Given the description of an element on the screen output the (x, y) to click on. 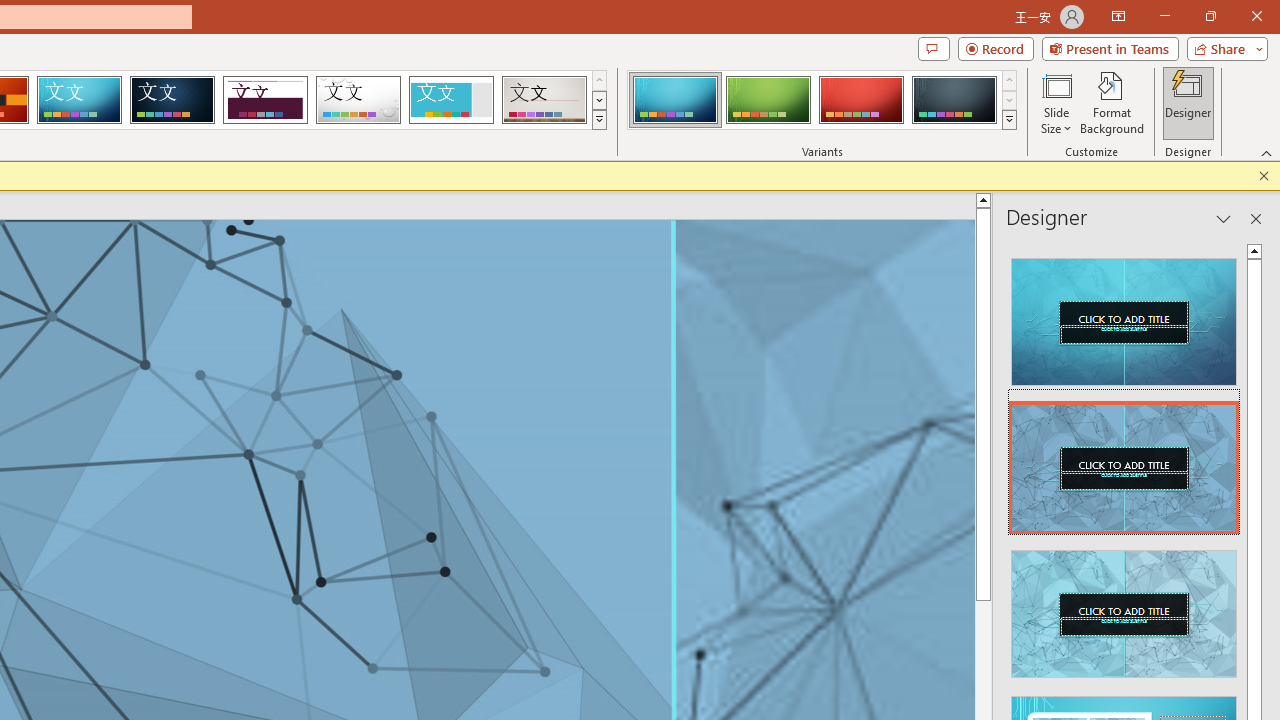
Close this message (1263, 176)
Damask (171, 100)
Droplet (358, 100)
Circuit Variant 1 (674, 100)
